Given the description of an element on the screen output the (x, y) to click on. 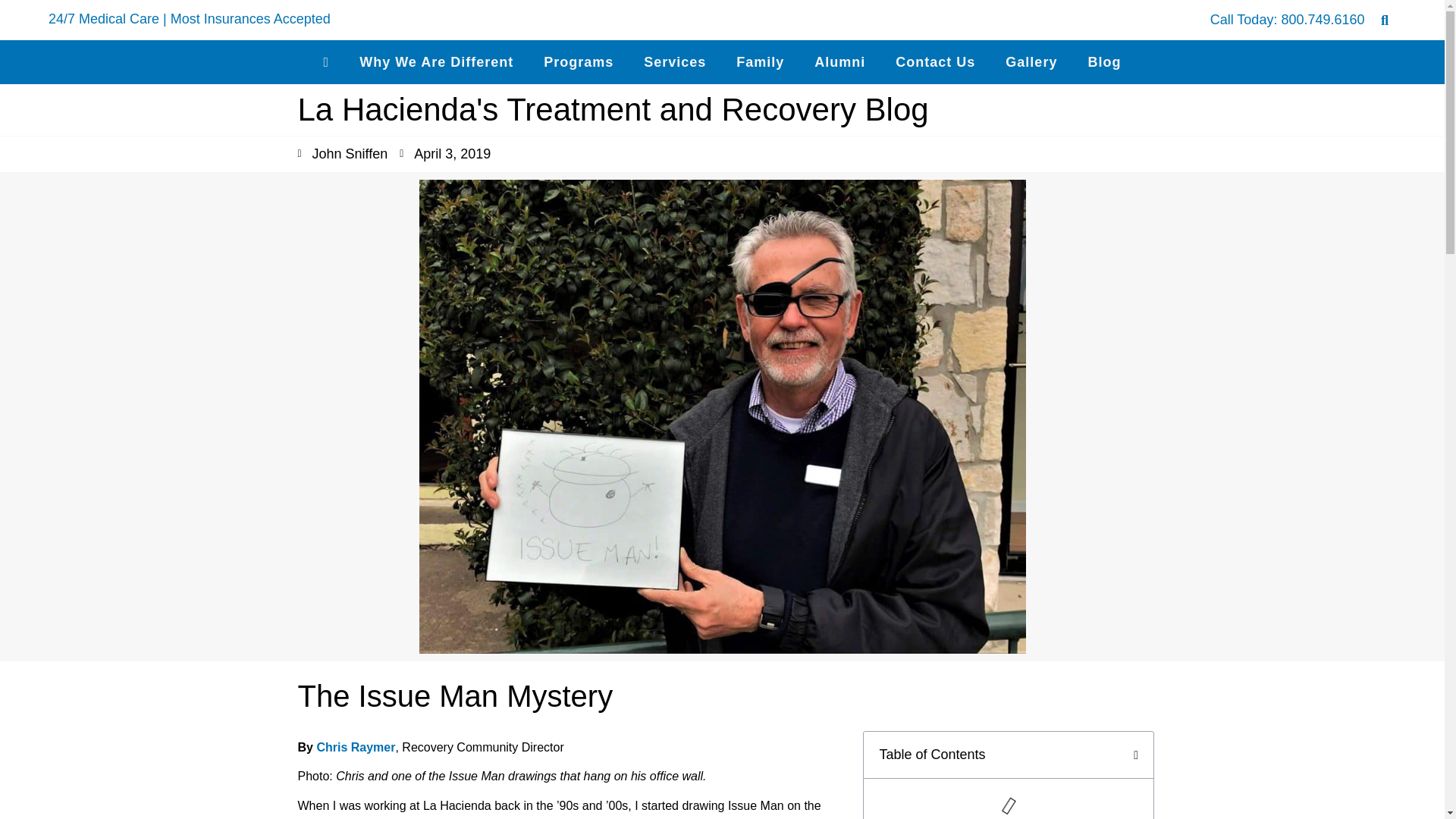
Contact Us (935, 62)
Family (759, 62)
Alumni (839, 62)
Why We Are Different (435, 62)
Blog (1103, 62)
Programs (578, 62)
Services (674, 62)
800.749.6160 (1322, 19)
Gallery (1030, 62)
